Given the description of an element on the screen output the (x, y) to click on. 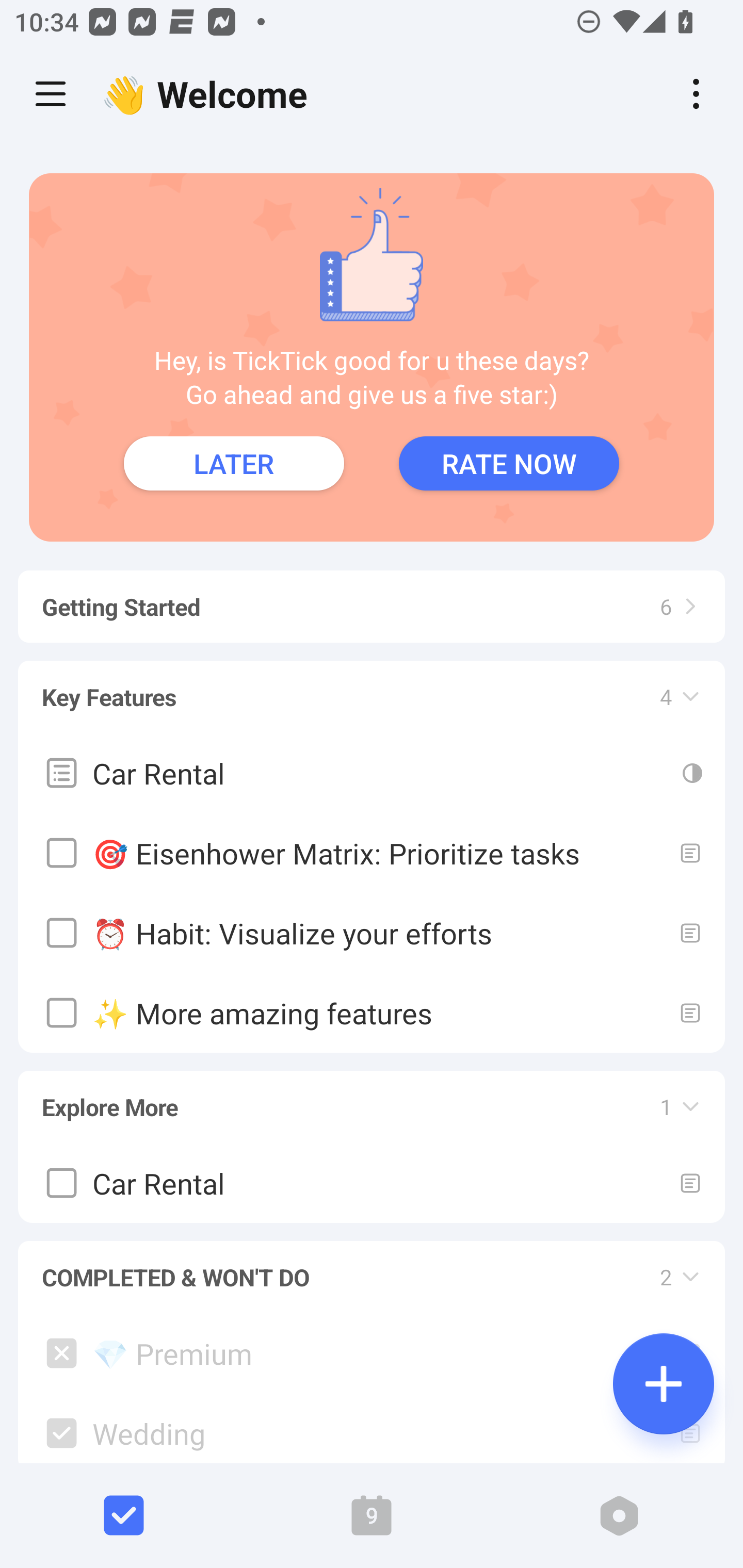
👋 Welcome (209, 93)
LATER (234, 462)
RATE NOW (508, 462)
Getting Started 6 (371, 596)
Key Features 4 (371, 687)
Car Rental (371, 772)
🎯 Eisenhower Matrix: Prioritize tasks (371, 852)
⏰ Habit: Visualize your efforts (371, 932)
✨ More amazing features (371, 1012)
Explore More 1 (371, 1097)
Car Rental (371, 1183)
COMPLETED & WON'T DO 2 (371, 1268)
💎 Premium (371, 1352)
Wedding (371, 1427)
